Given the description of an element on the screen output the (x, y) to click on. 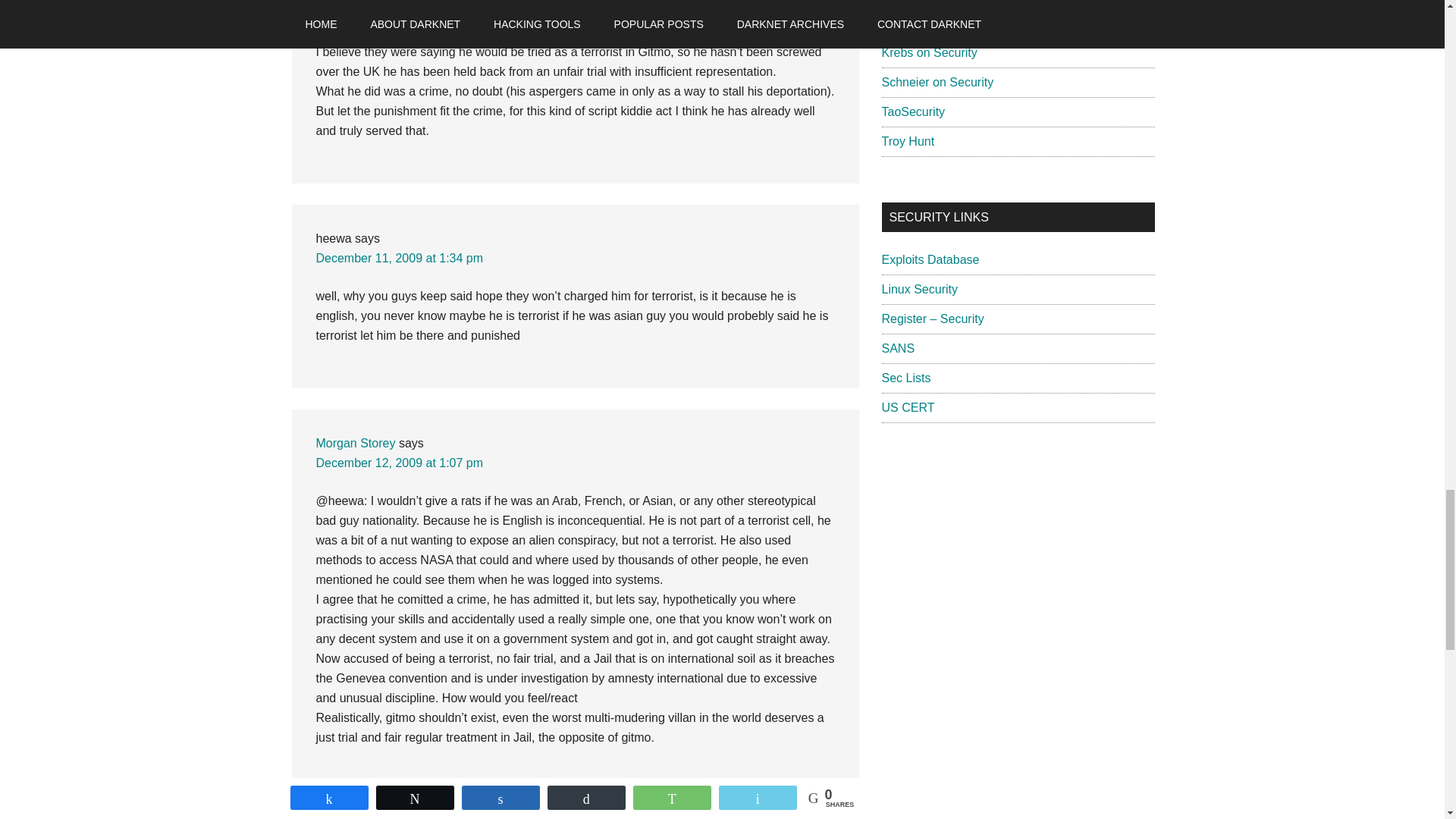
December 5, 2009 at 2:22 pm (395, 13)
December 11, 2009 at 1:34 pm (399, 257)
Krebs on Security (928, 51)
SANS Internet Storm Center (938, 22)
